Given the description of an element on the screen output the (x, y) to click on. 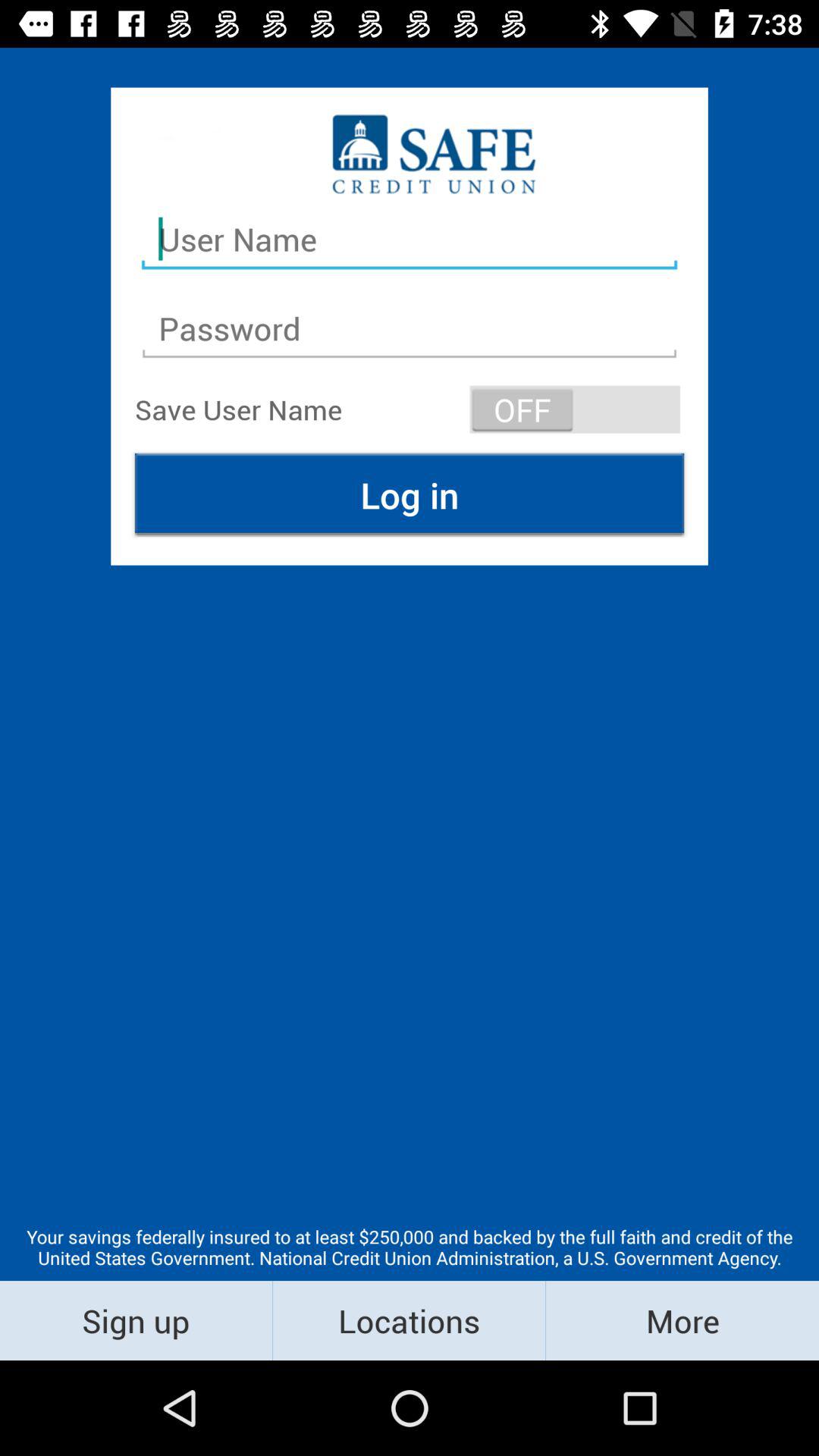
click icon below your savings federally item (136, 1320)
